Given the description of an element on the screen output the (x, y) to click on. 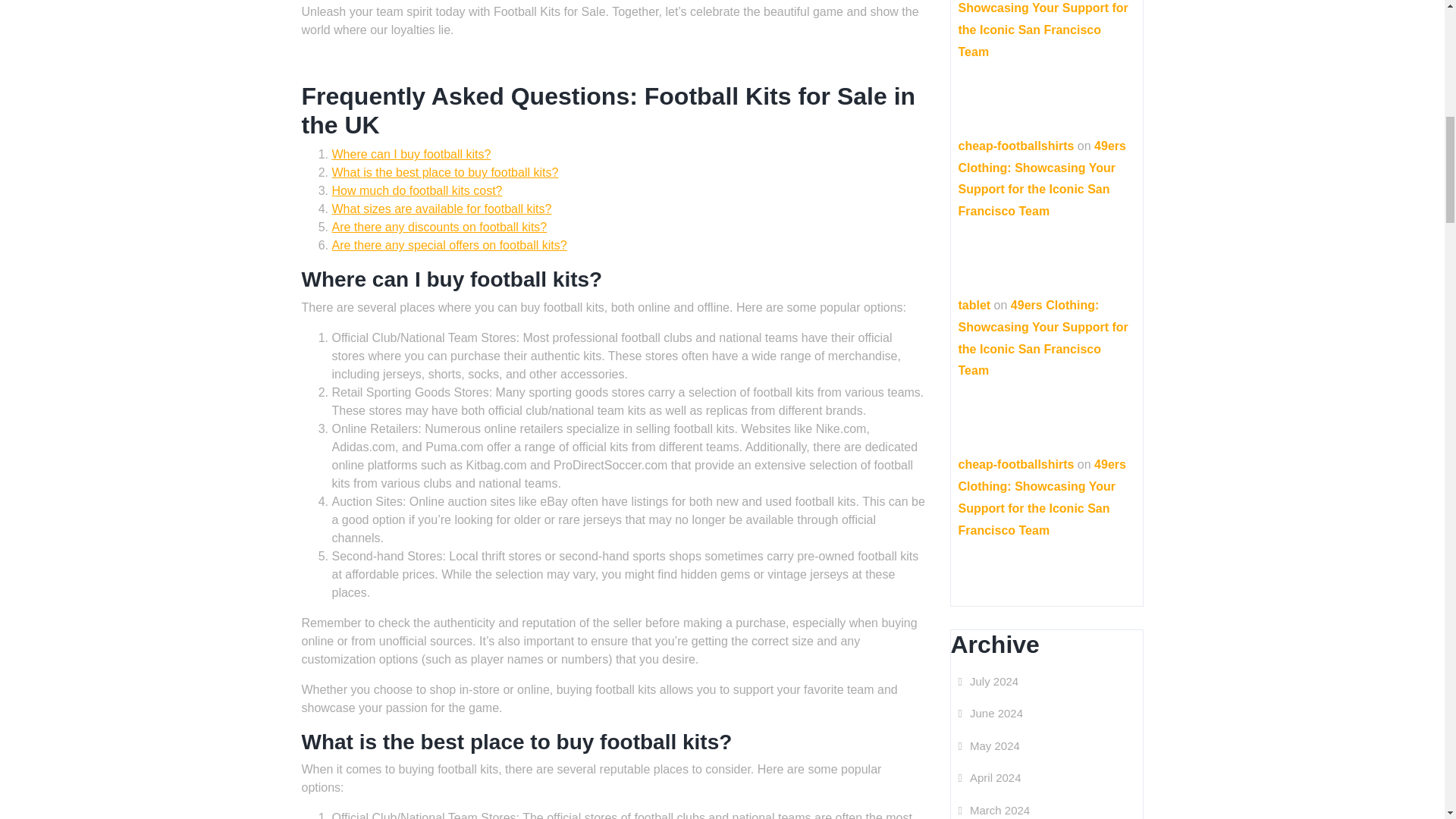
What sizes are available for football kits? (441, 208)
What is the best place to buy football kits? (445, 172)
Where can I buy football kits? (411, 154)
Are there any special offers on football kits? (449, 245)
How much do football kits cost? (416, 190)
Are there any discounts on football kits? (439, 226)
